Given the description of an element on the screen output the (x, y) to click on. 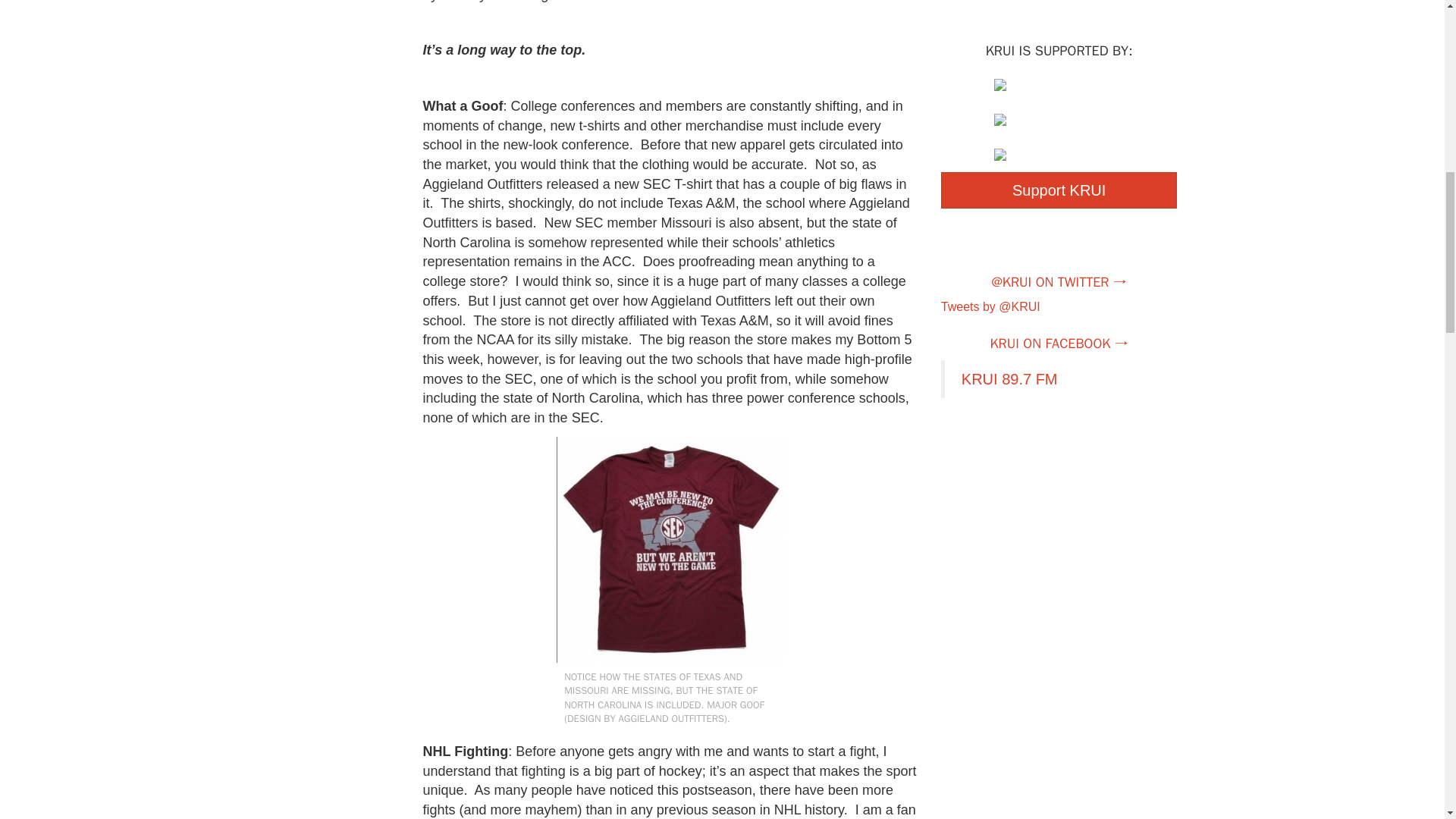
shirt gaffe (670, 549)
